Given the description of an element on the screen output the (x, y) to click on. 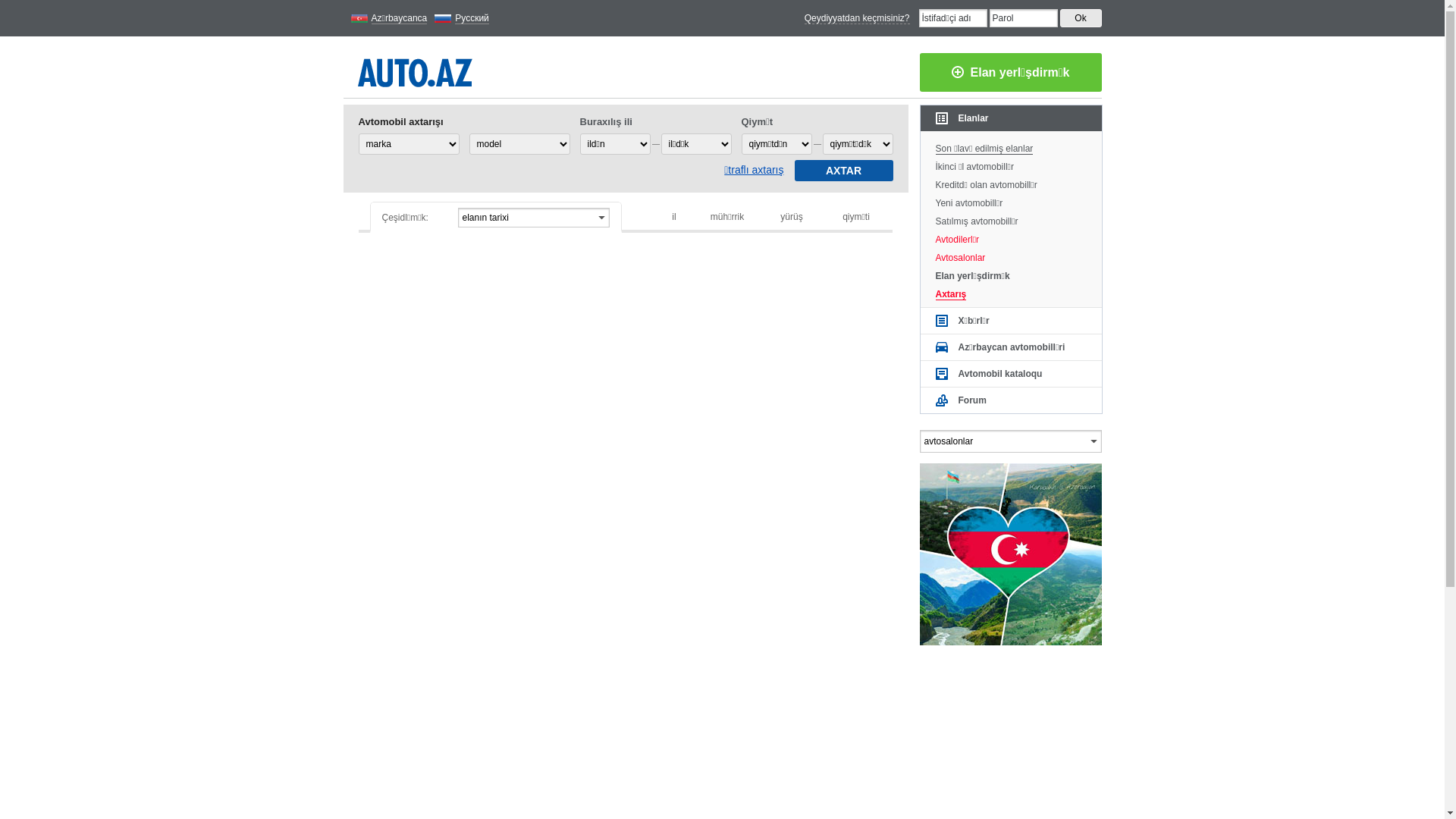
AUTO.AZ Element type: text (414, 70)
Ok Element type: hover (1080, 18)
Ok Element type: text (1080, 18)
AXTAR Element type: text (843, 170)
Forum Element type: text (1010, 400)
Elanlar Element type: text (1010, 118)
Avtosalonlar Element type: text (1010, 255)
Avtomobil kataloqu Element type: text (1010, 373)
